Given the description of an element on the screen output the (x, y) to click on. 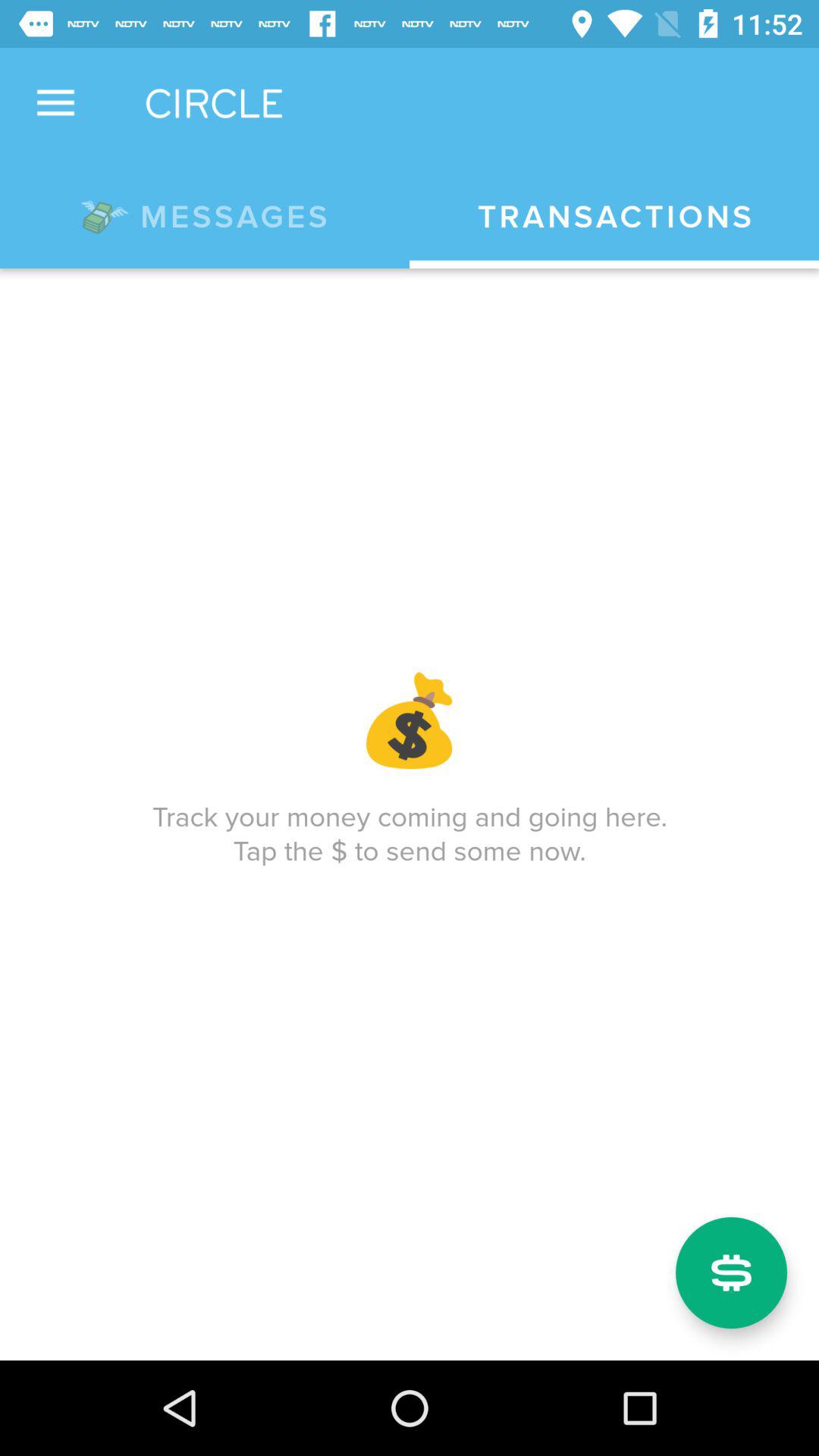
press item below the track your money item (731, 1272)
